Given the description of an element on the screen output the (x, y) to click on. 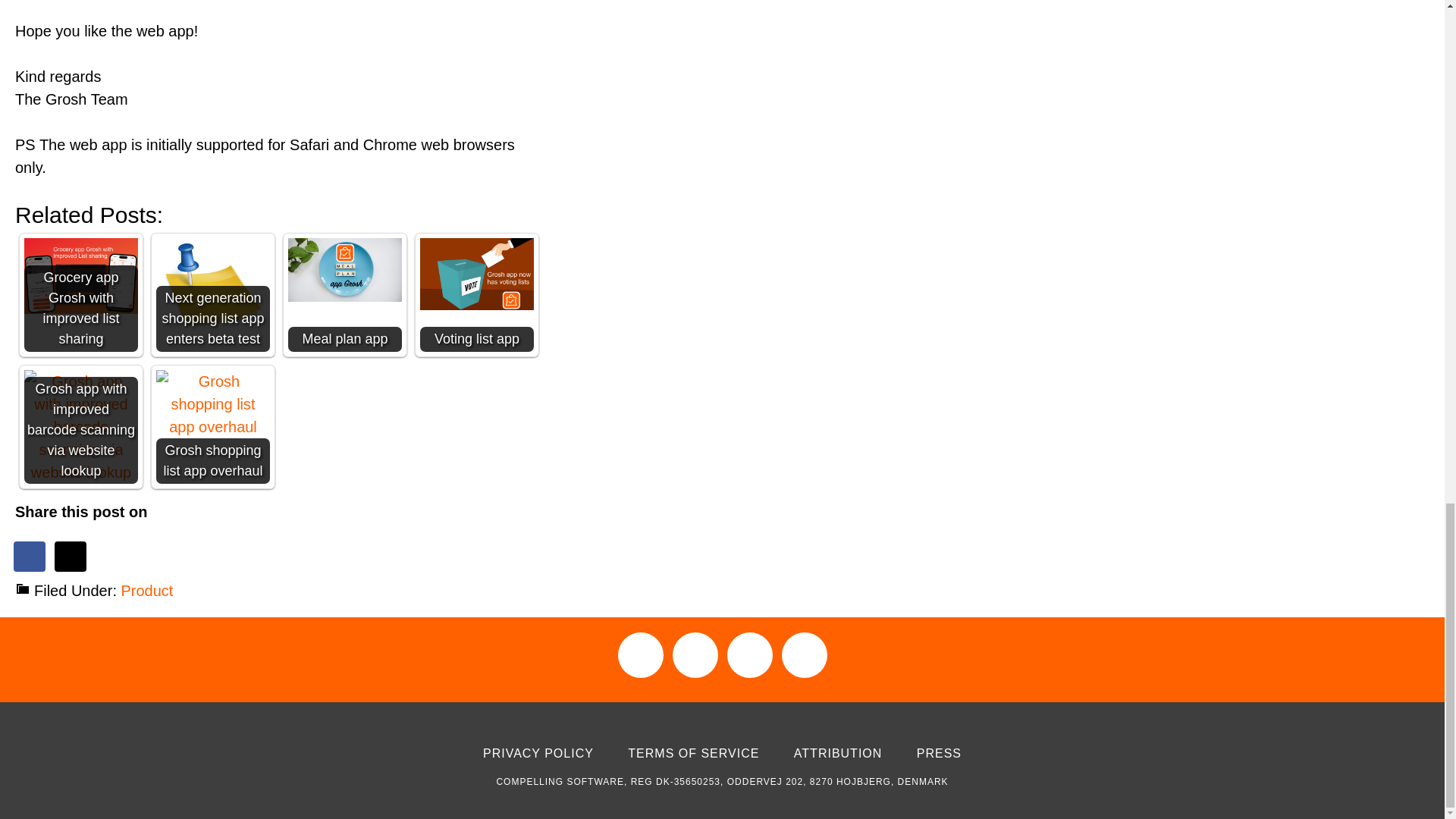
Share on X (70, 556)
Meal plan app (344, 295)
Grosh shopping list app overhaul (212, 404)
Grosh app with improved barcode scanning via website lookup (81, 427)
Grocery app Grosh with improved list sharing (81, 295)
Share on Facebook (29, 556)
Next generation shopping list app enters beta test (212, 295)
Next generation shopping list app enters beta test (212, 295)
Grocery app Grosh with improved list sharing (81, 275)
Voting list app (477, 274)
